Given the description of an element on the screen output the (x, y) to click on. 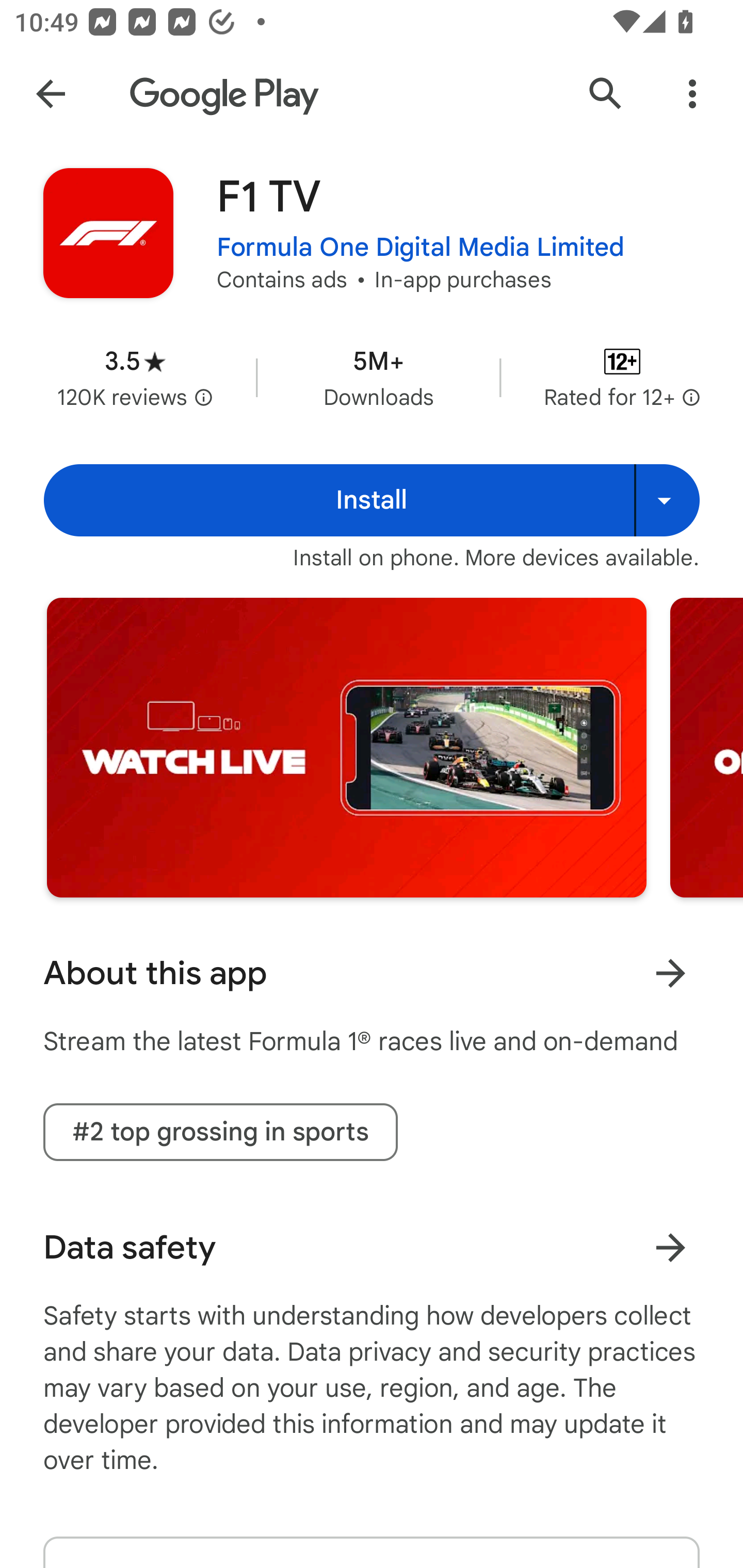
Navigate up (50, 93)
Search Google Play (605, 93)
More Options (692, 93)
Formula One Digital Media Limited (420, 247)
Average rating 3.5 stars in 120 thousand reviews (135, 377)
Content rating Rated for 12+ (622, 377)
Install Install Install on more devices (371, 500)
Install on more devices (667, 500)
Screenshot "1" of "5" (346, 746)
About this app Learn more About this app (371, 972)
Learn more About this app (670, 972)
#2 top grossing in sports tag (220, 1132)
Data safety Learn more about data safety (371, 1247)
Learn more about data safety (670, 1247)
